Given the description of an element on the screen output the (x, y) to click on. 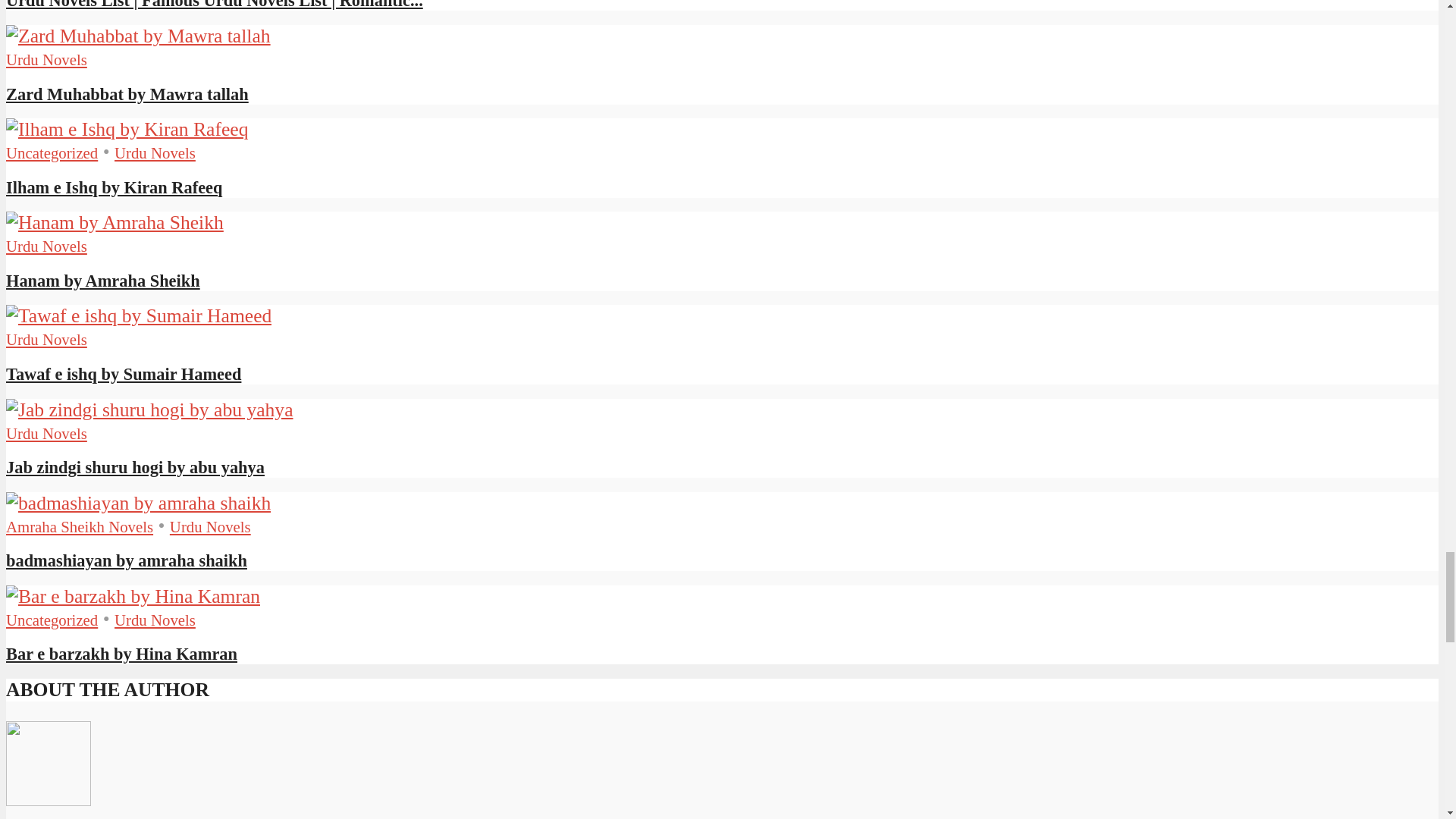
Zard Muhabbat by Mawra tallah (137, 36)
Zard Muhabbat by Mawra tallah (126, 94)
Zard Muhabbat by Mawra tallah (137, 35)
